Given the description of an element on the screen output the (x, y) to click on. 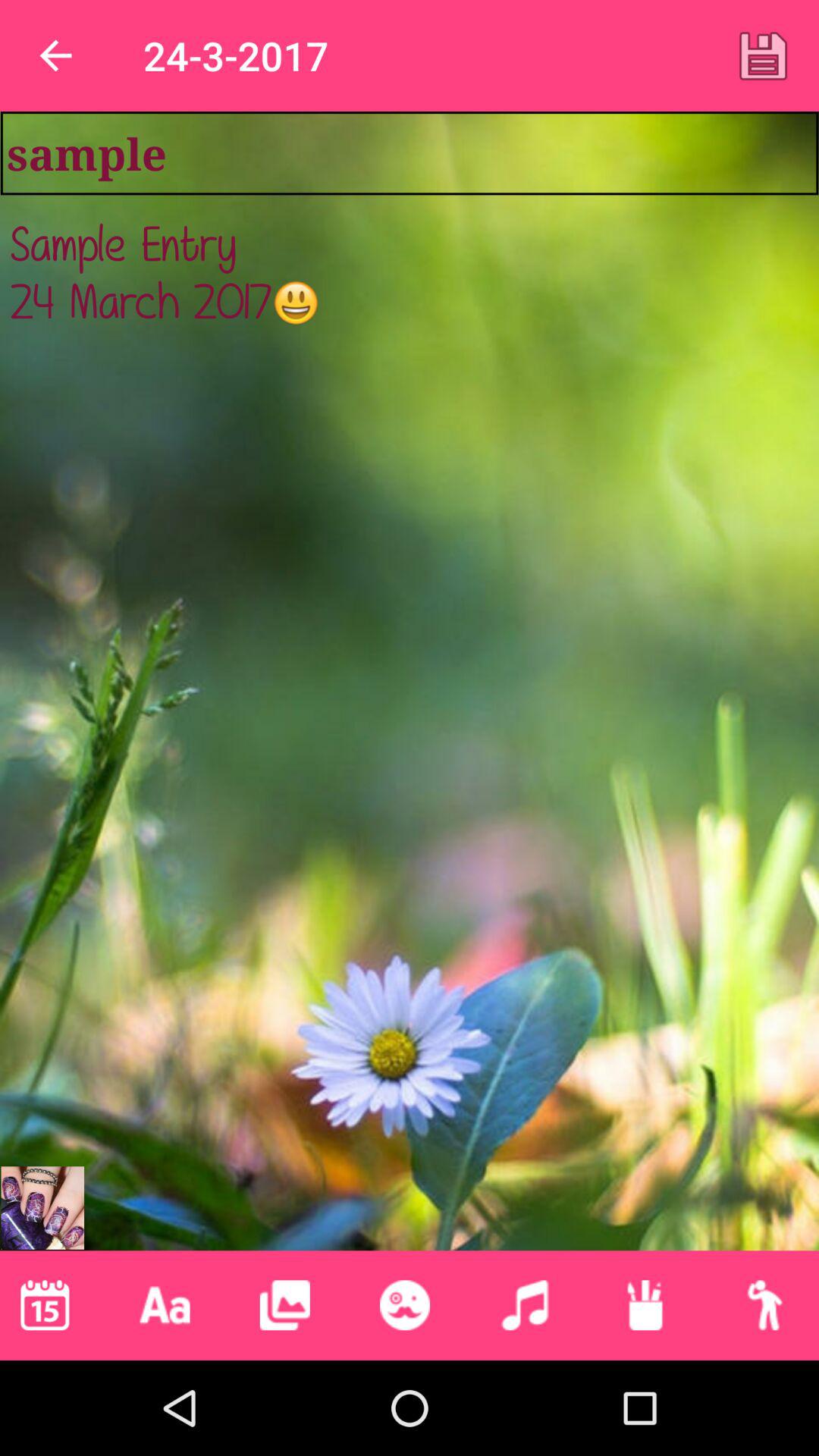
turn on the icon at the top right corner (763, 55)
